Given the description of an element on the screen output the (x, y) to click on. 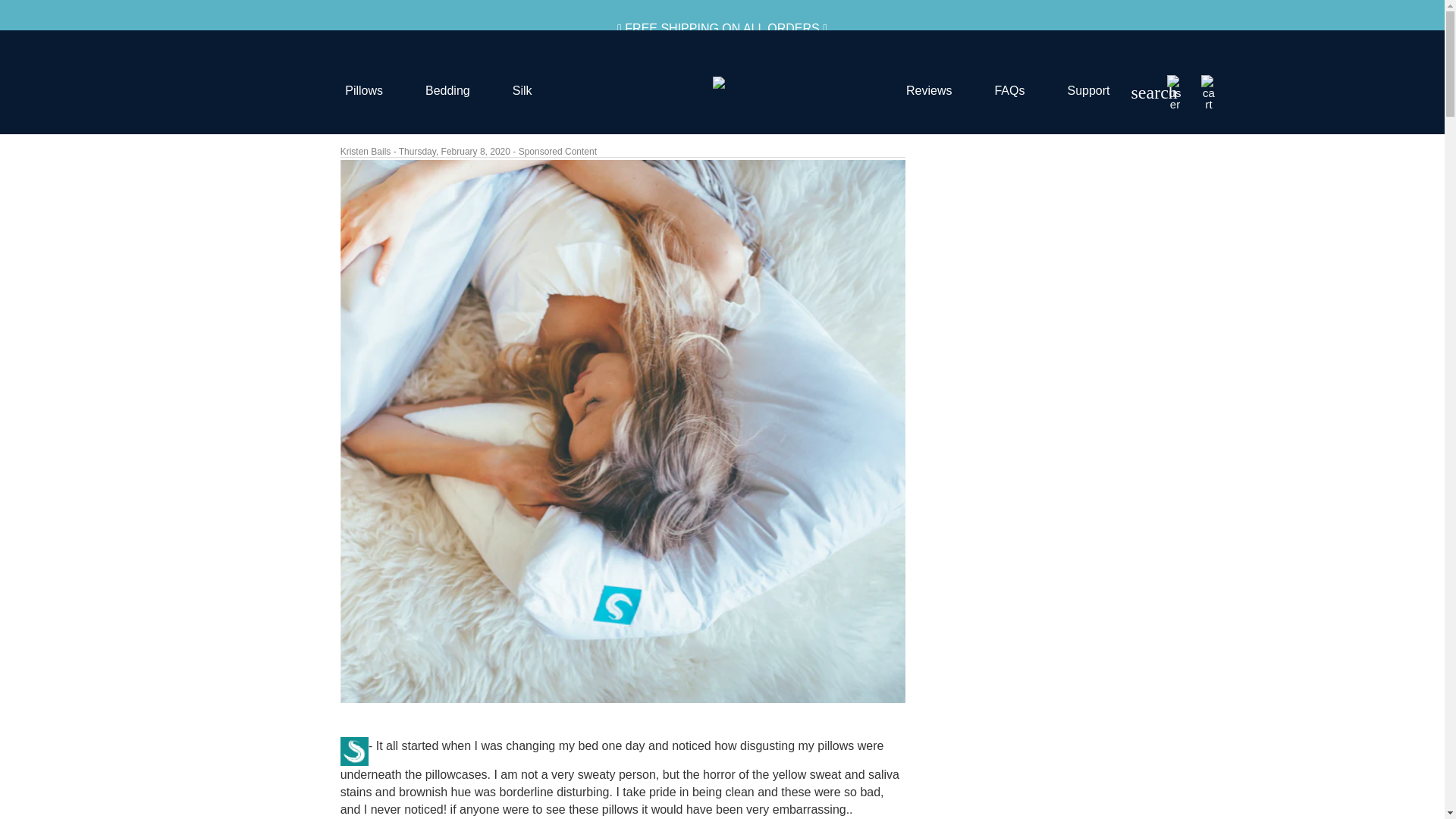
Bedding (448, 90)
Pillows (363, 90)
Reviews (928, 90)
Silk (522, 90)
search (1139, 92)
Support (1088, 90)
FAQs (1008, 90)
